Given the description of an element on the screen output the (x, y) to click on. 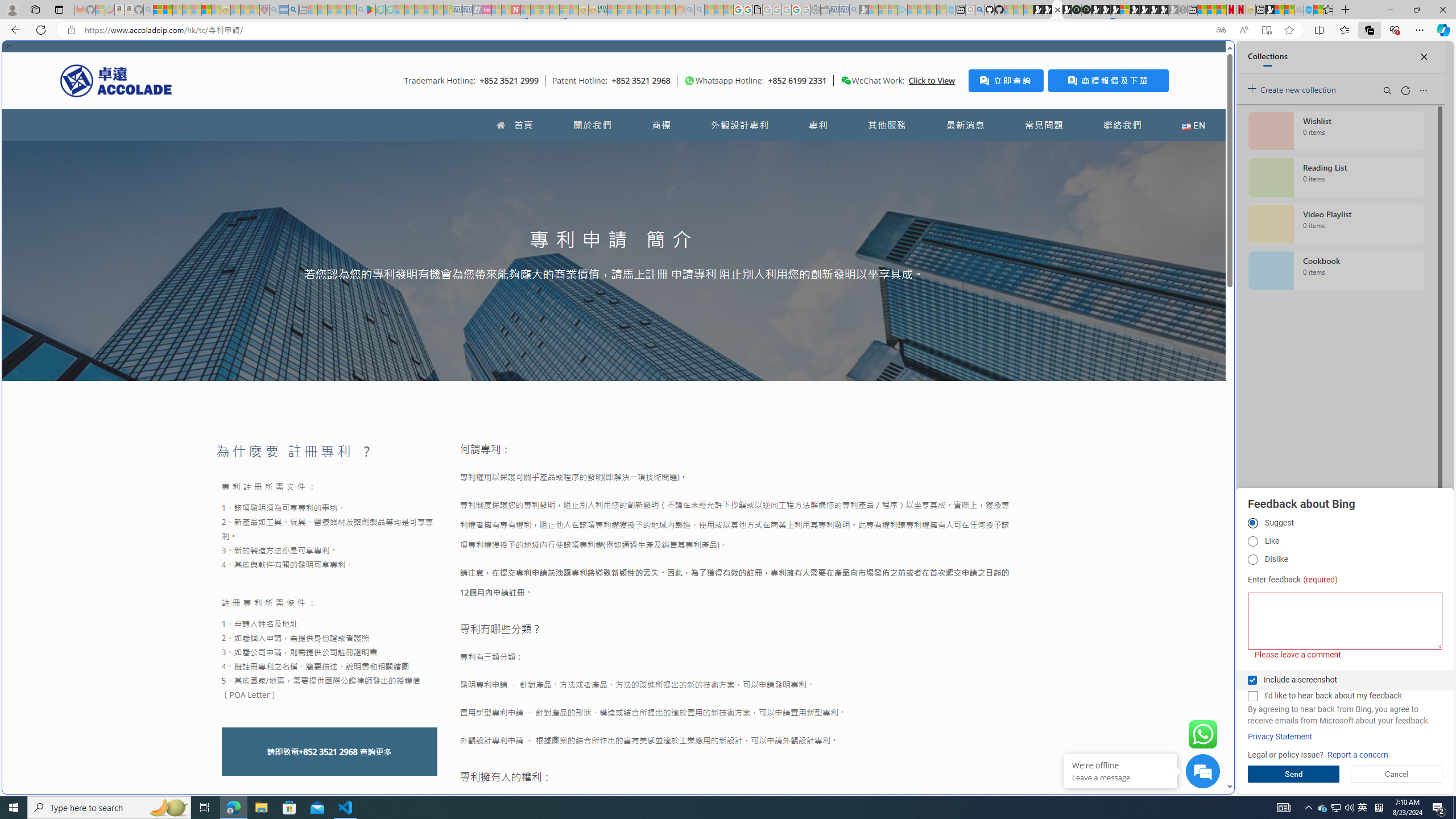
google_privacy_policy_zh-CN.pdf (757, 9)
Suggest (1252, 523)
Jobs - lastminute.com Investor Portal - Sleeping (486, 9)
